Given the description of an element on the screen output the (x, y) to click on. 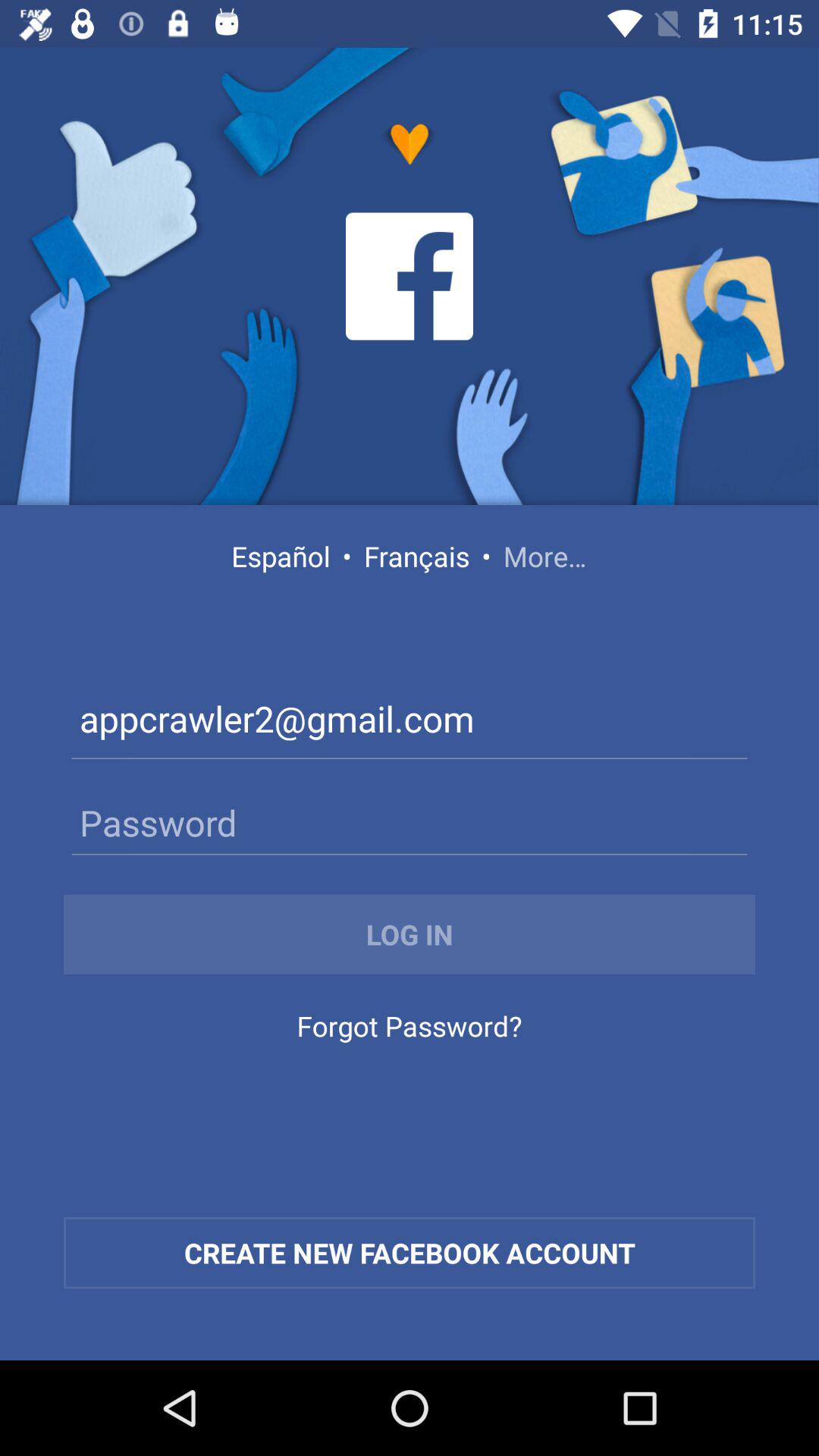
press the appcrawler2@gmail.com icon (409, 722)
